Given the description of an element on the screen output the (x, y) to click on. 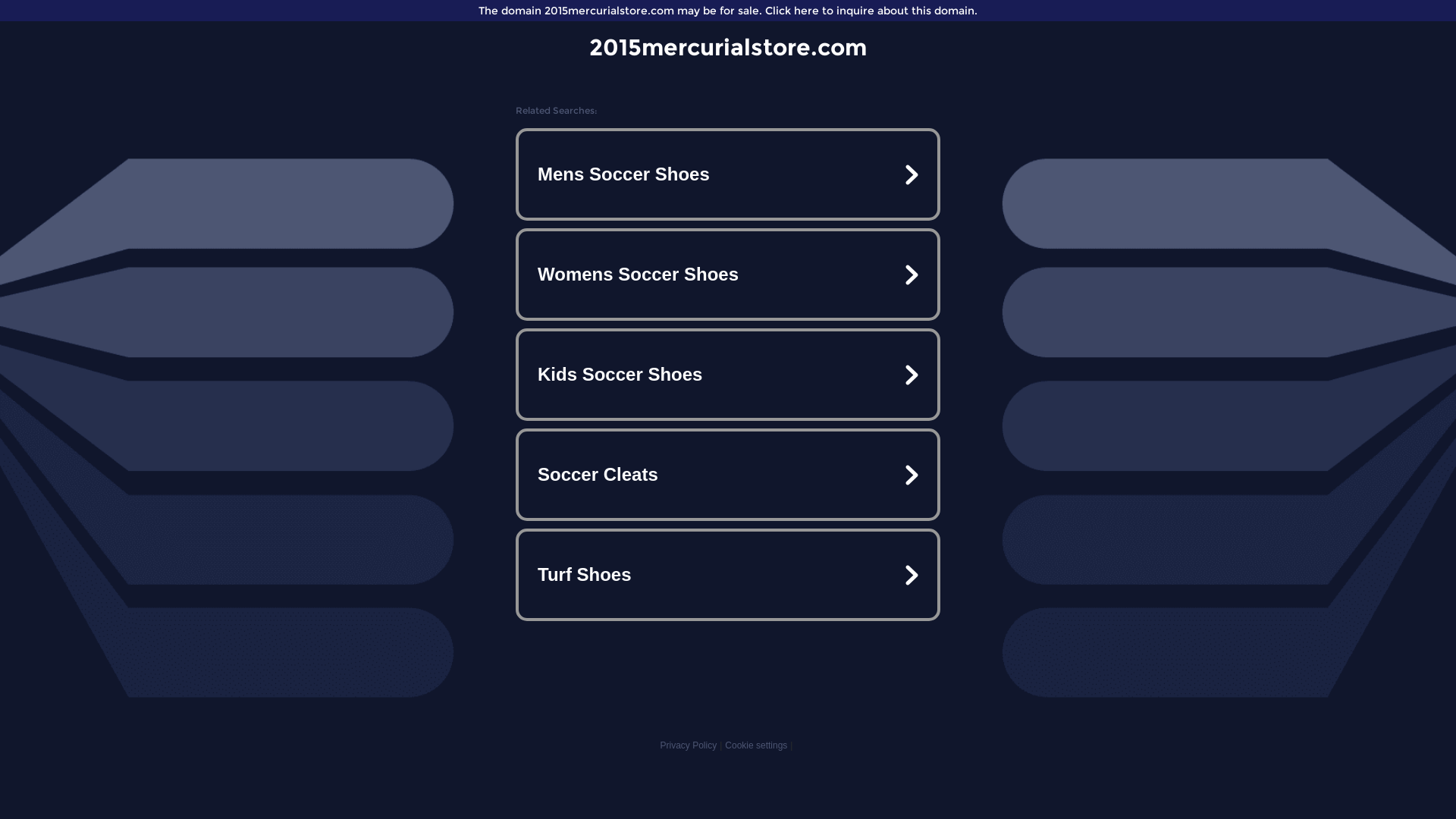
Privacy Policy Element type: text (687, 745)
Turf Shoes Element type: text (727, 574)
Kids Soccer Shoes Element type: text (727, 374)
Cookie settings Element type: text (755, 745)
2015mercurialstore.com Element type: text (727, 47)
Mens Soccer Shoes Element type: text (727, 174)
Soccer Cleats Element type: text (727, 474)
Womens Soccer Shoes Element type: text (727, 274)
